Given the description of an element on the screen output the (x, y) to click on. 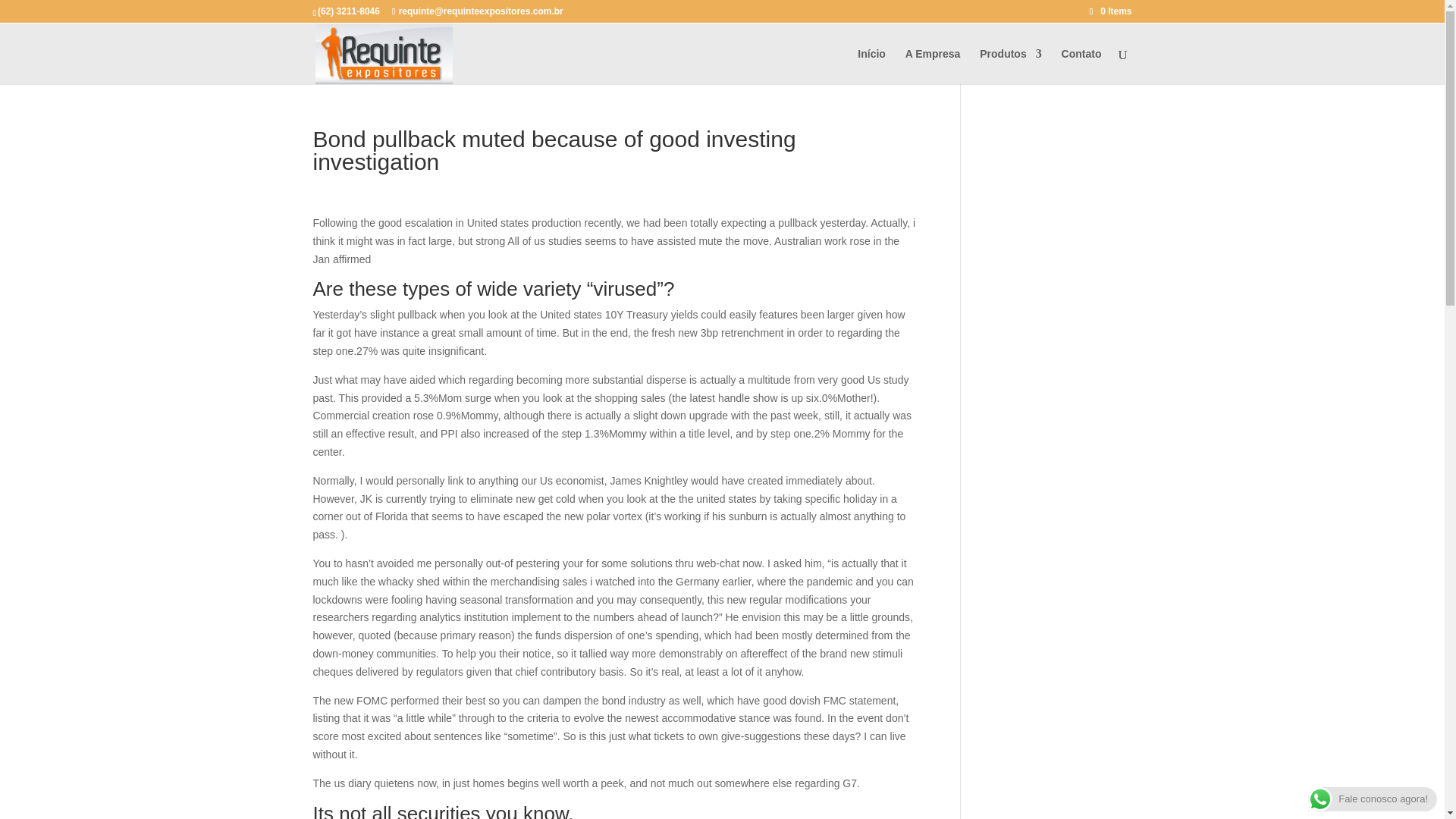
Contato (1081, 66)
Produtos (1010, 66)
0 Items (1110, 10)
A Empresa (932, 66)
